Given the description of an element on the screen output the (x, y) to click on. 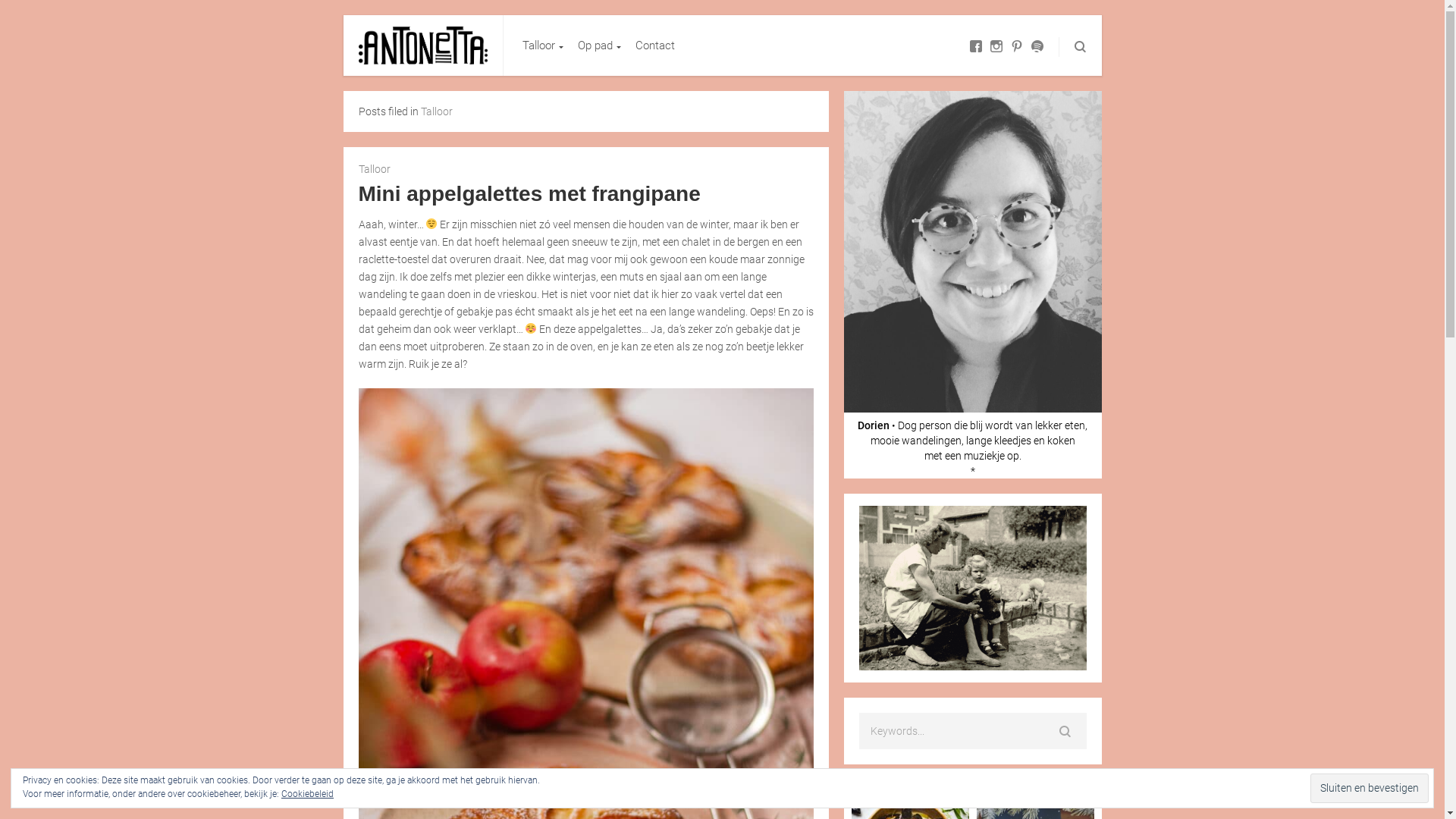
Talloor Element type: text (540, 45)
Contact Element type: text (654, 45)
Sluiten en bevestigen Element type: text (1369, 788)
Skip to content Element type: text (502, 14)
Mini appelgalettes met frangipane Element type: text (528, 193)
Cookiebeleid Element type: text (307, 793)
Op pad Element type: text (597, 45)
